Given the description of an element on the screen output the (x, y) to click on. 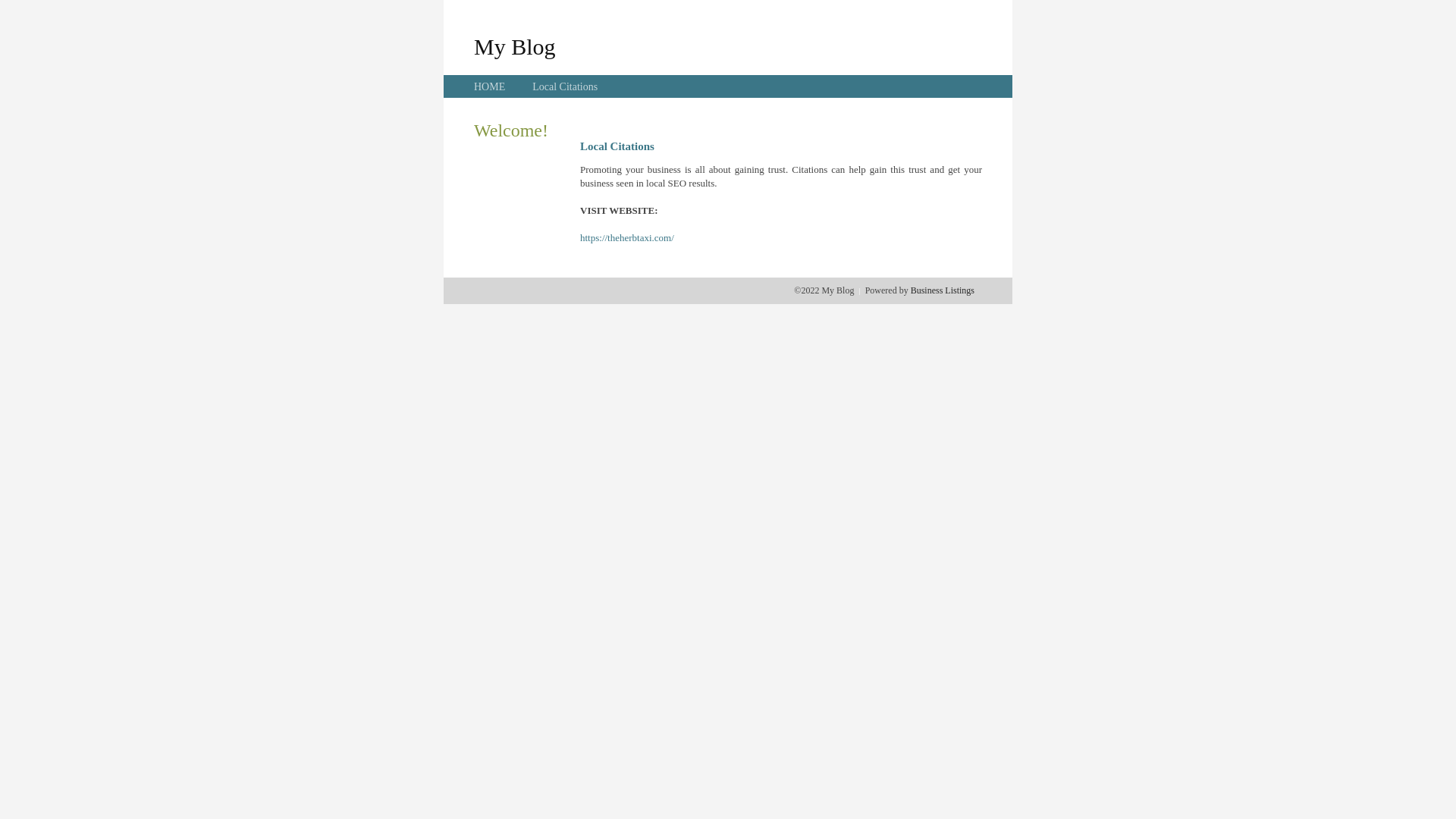
Local Citations Element type: text (564, 86)
Business Listings Element type: text (942, 290)
My Blog Element type: text (514, 46)
https://theherbtaxi.com/ Element type: text (627, 237)
HOME Element type: text (489, 86)
